Given the description of an element on the screen output the (x, y) to click on. 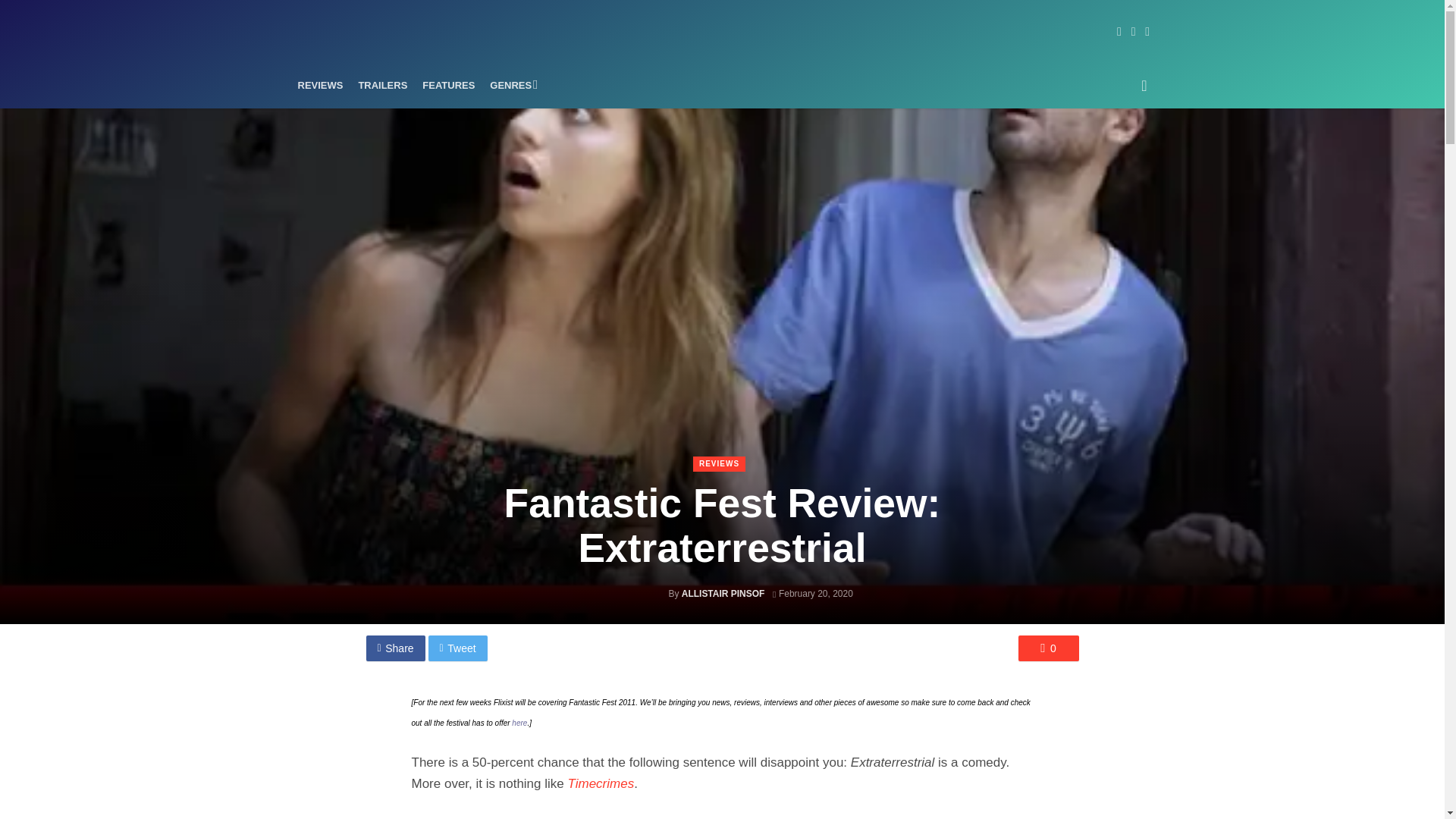
Share (395, 647)
0 (1047, 647)
TRAILERS (382, 85)
February 20, 2020 at 12:59 pm (813, 593)
Tweet (457, 647)
REVIEWS (719, 463)
Timecrimes (600, 783)
here (519, 723)
FEATURES (447, 85)
GENRES (511, 85)
Posts by Allistair Pinsof (723, 593)
Genres (511, 85)
ALLISTAIR PINSOF (723, 593)
REVIEWS (319, 85)
